Given the description of an element on the screen output the (x, y) to click on. 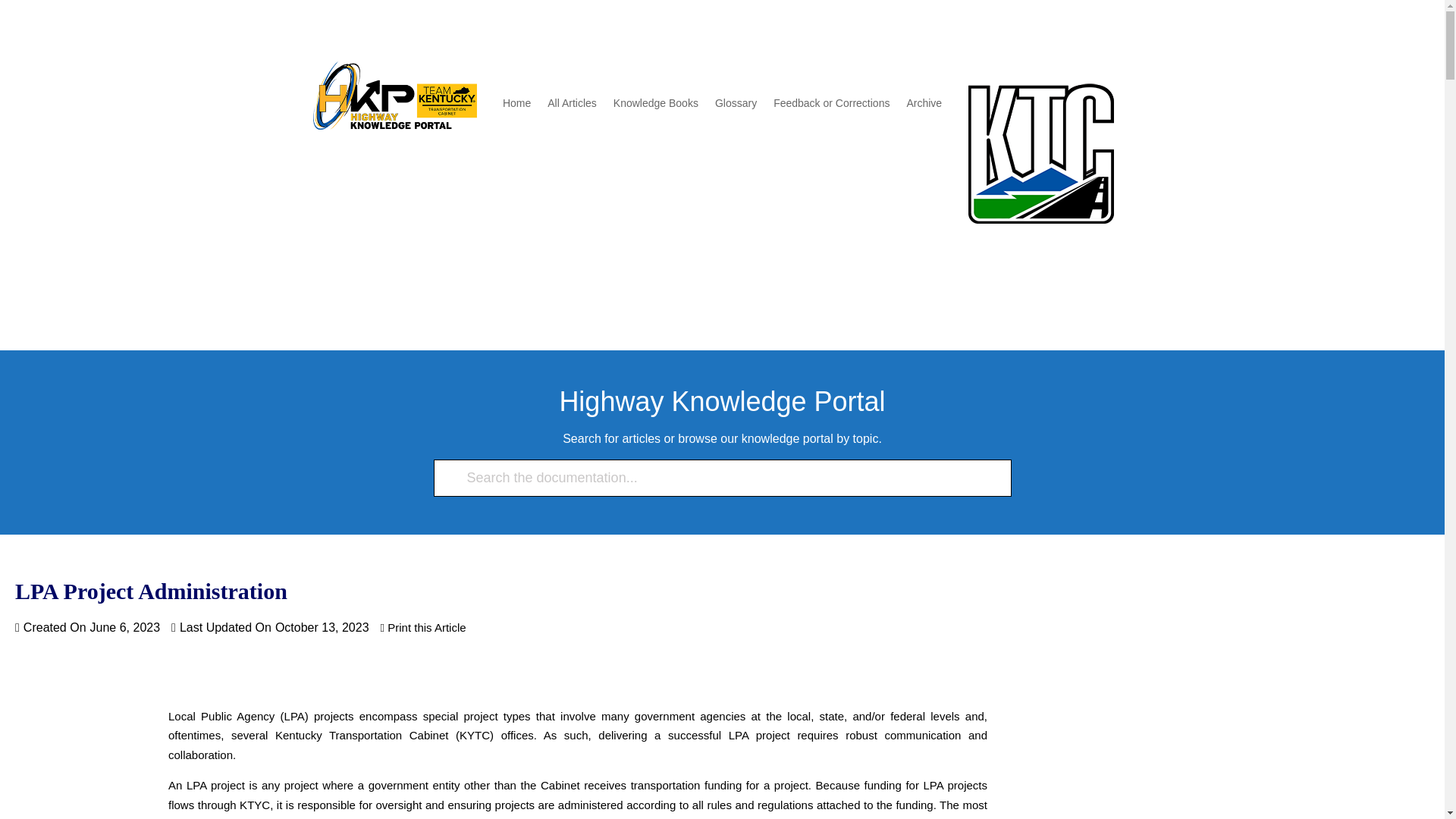
Home (516, 105)
Feedback or Corrections (831, 105)
Archive (923, 105)
All Articles (571, 105)
HKP-KYTC Logo fusion 400x167px (394, 95)
Glossary (735, 105)
Knowledge Books (655, 105)
